Given the description of an element on the screen output the (x, y) to click on. 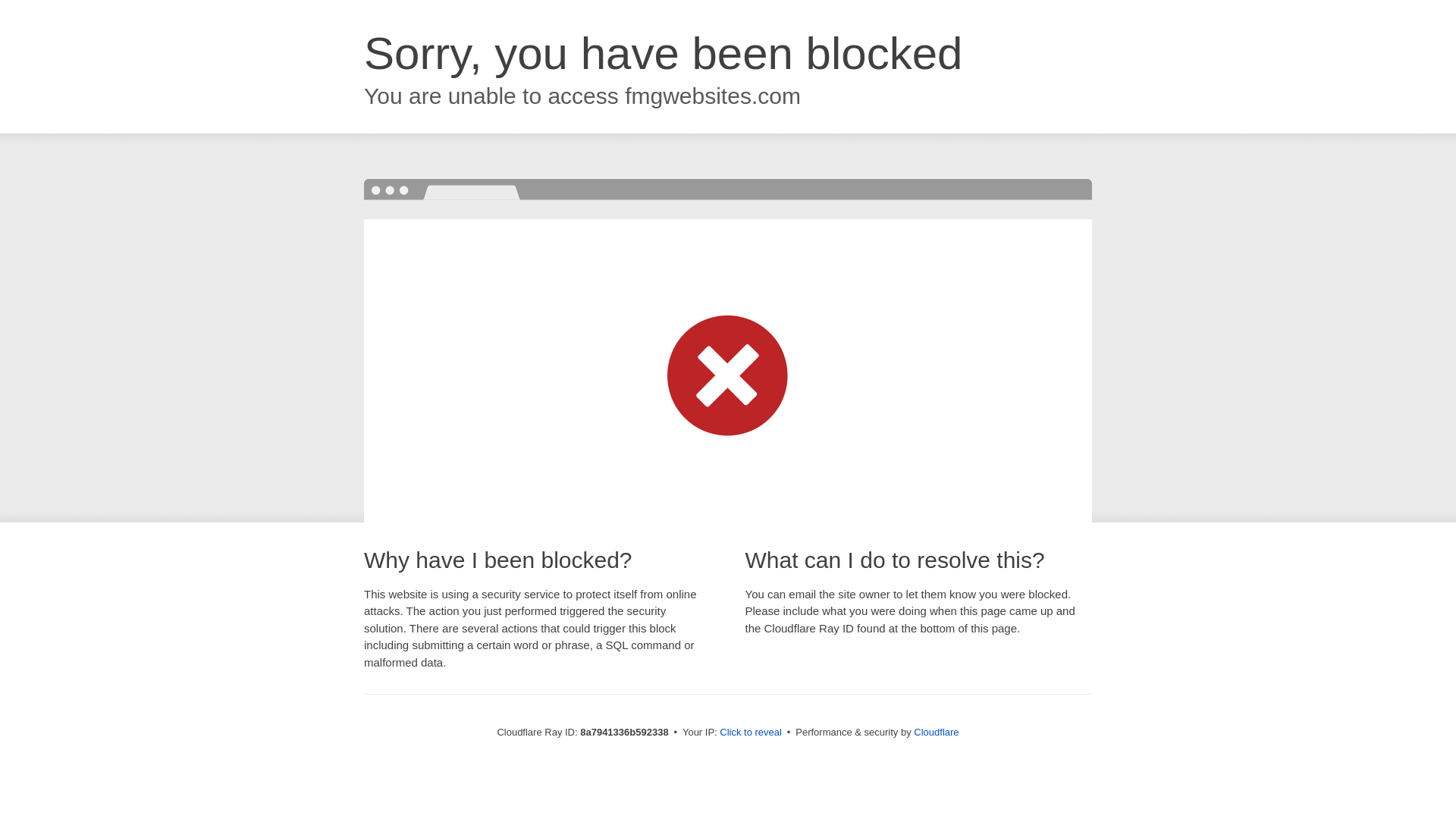
Click to reveal (750, 732)
Cloudflare (936, 731)
